Given the description of an element on the screen output the (x, y) to click on. 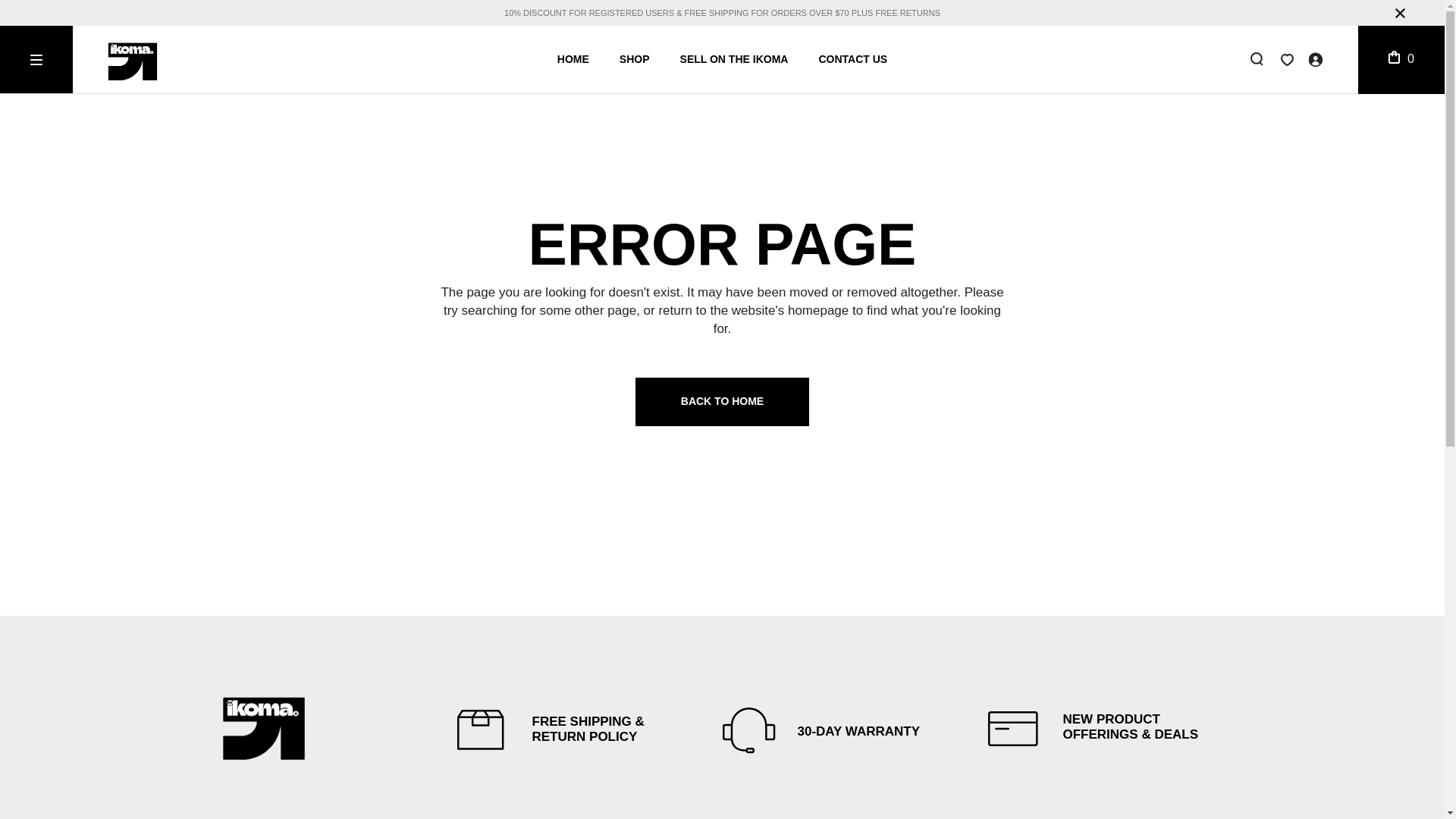
CONTACT US (852, 59)
0 (1401, 59)
SELL ON THE IKOMA (734, 59)
BACK TO HOME (721, 401)
